Given the description of an element on the screen output the (x, y) to click on. 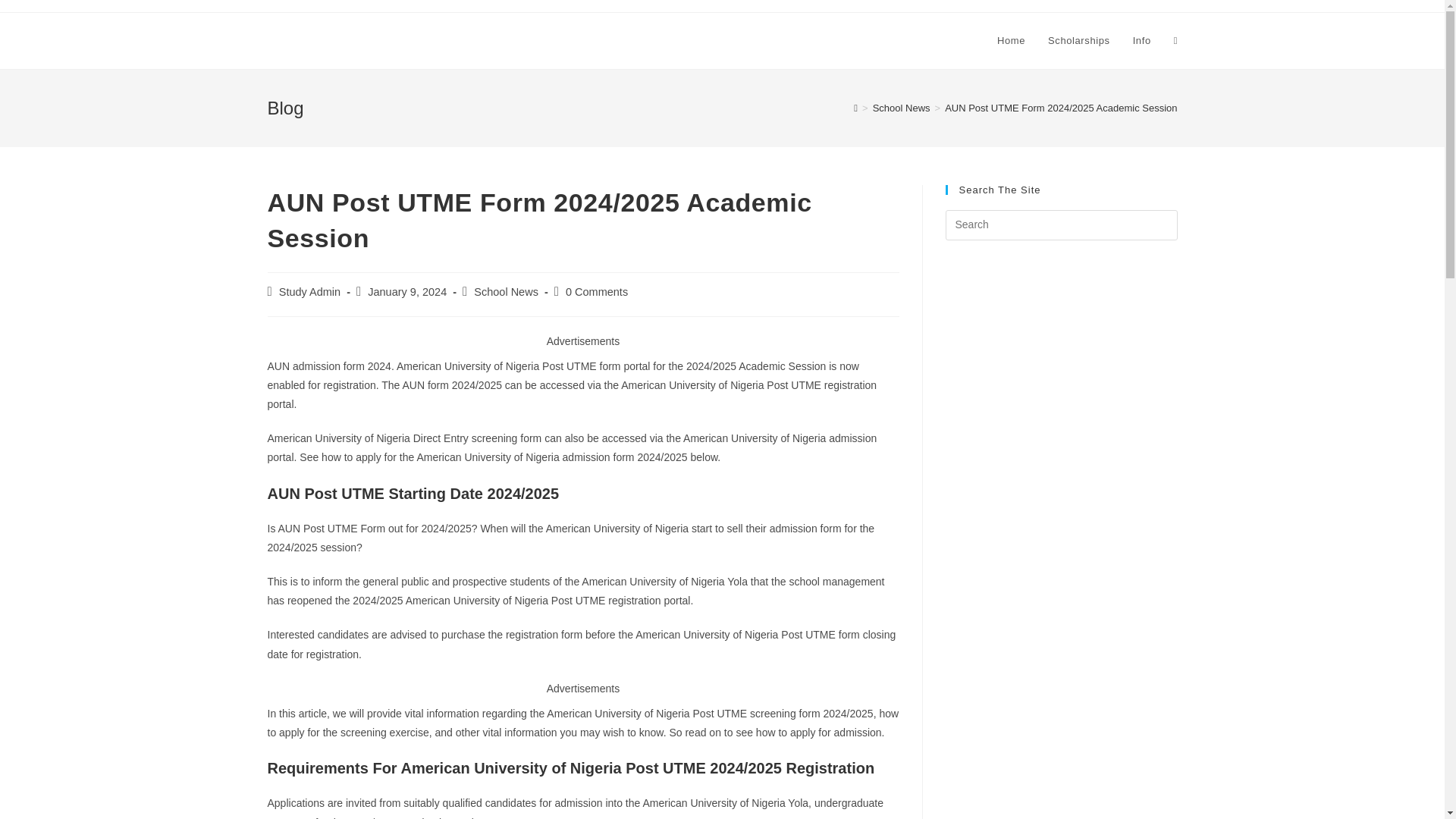
0 Comments (596, 291)
School News (506, 291)
Posts by Study Admin (309, 291)
School News (901, 107)
Home (1010, 40)
Study Admin (309, 291)
Scholarships (1078, 40)
Study Forum (318, 40)
